Given the description of an element on the screen output the (x, y) to click on. 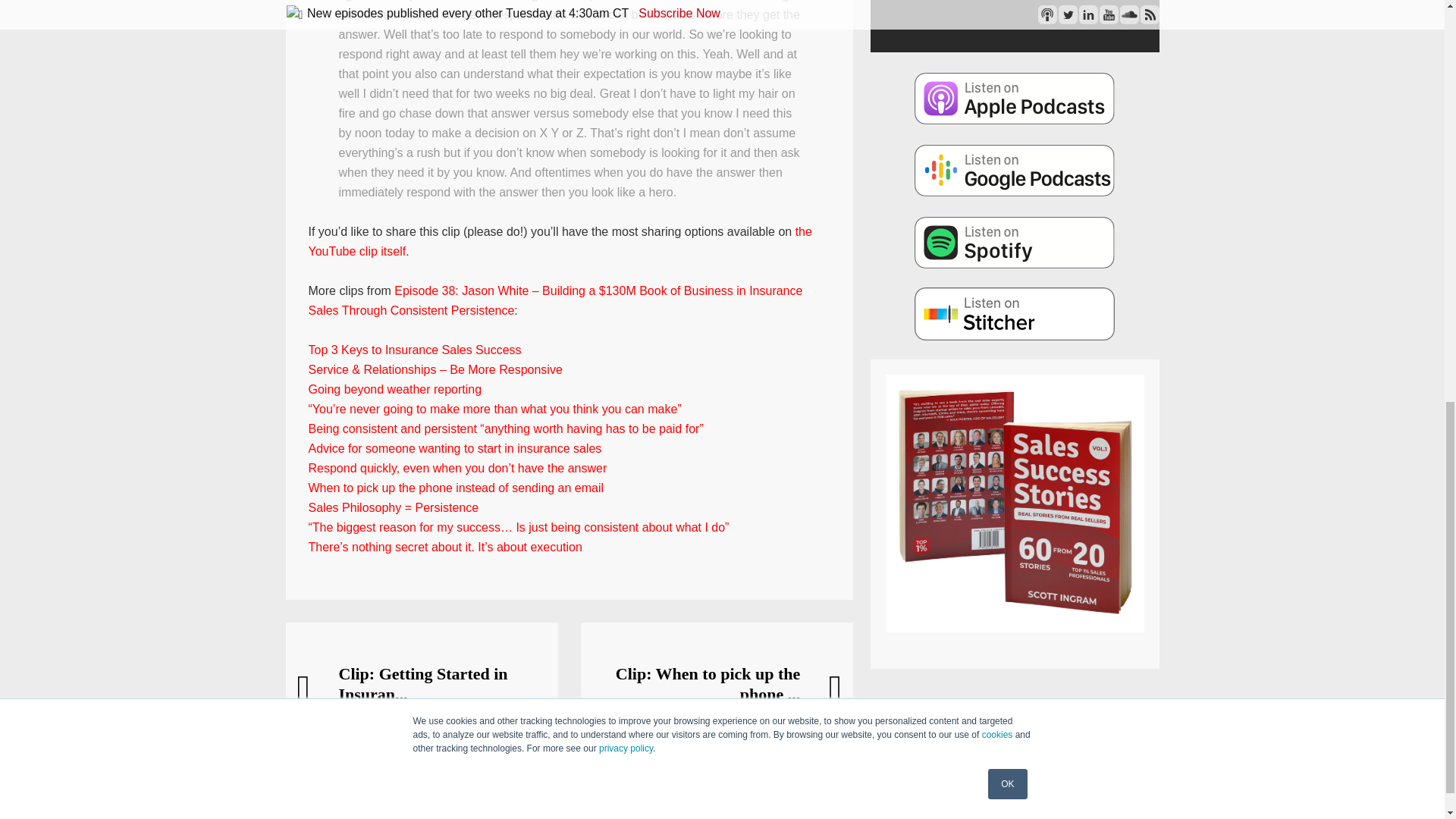
Sales Success Stories on Spotify (1014, 241)
the YouTube clip itself (558, 241)
Going beyond weather reporting (394, 389)
Form 0 (1014, 14)
Sales Success Stories on Stitcher (1014, 313)
Sales Success Stories on Apple Podcasts (1014, 97)
Advice for someone wanting to start in insurance sales (454, 448)
Top 3 Keys to Insurance Sales Success (414, 349)
When to pick up the phone instead of sending an email (455, 487)
Sales Success Stories on Google Podcasts (1014, 169)
